Given the description of an element on the screen output the (x, y) to click on. 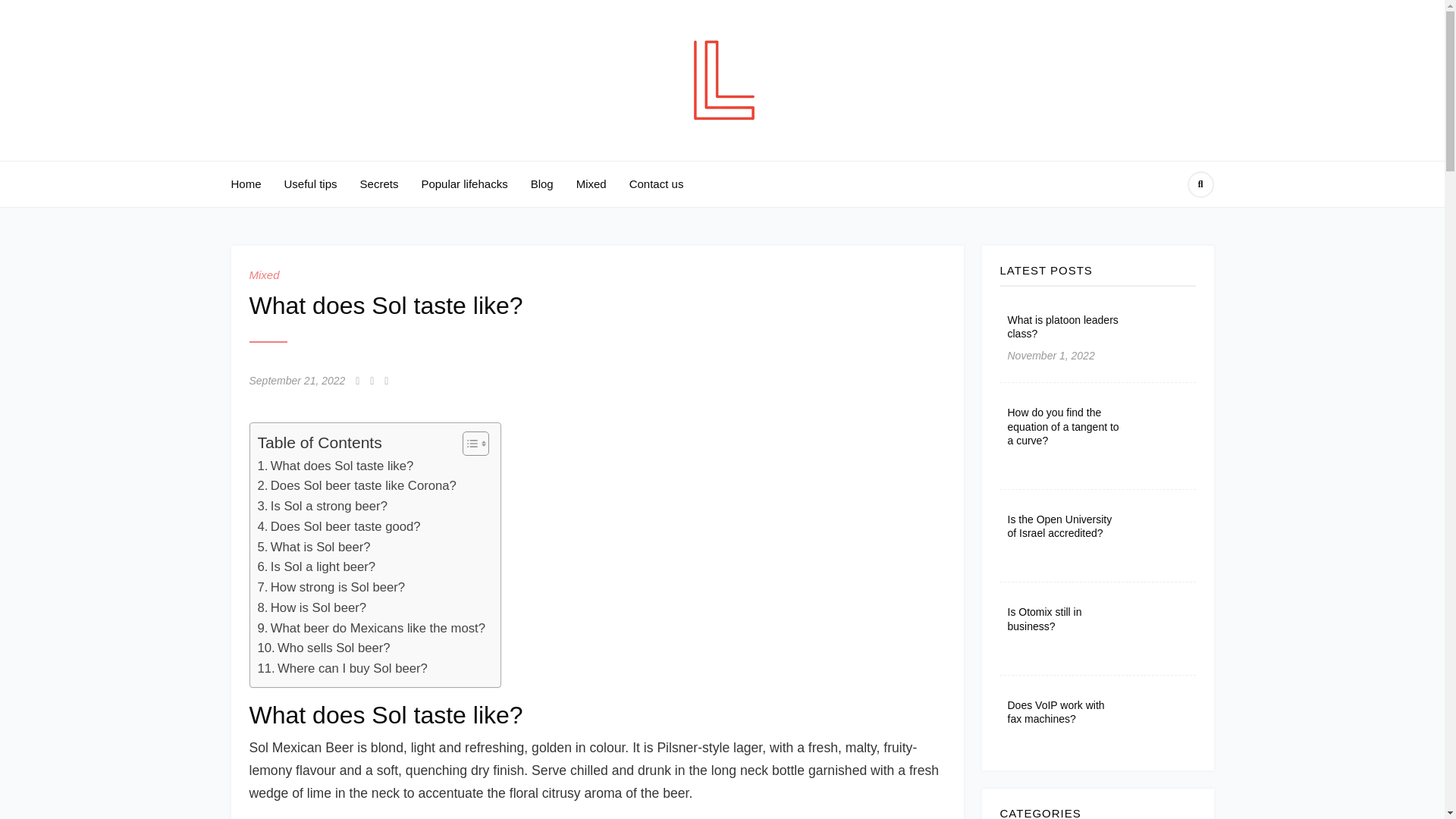
Mixed (263, 274)
What is Sol beer? (314, 547)
Does Sol beer taste good? (338, 526)
Who sells Sol beer? (323, 648)
Does Sol beer taste good? (338, 526)
Does Sol beer taste like Corona? (357, 485)
Who sells Sol beer? (323, 648)
Where can I buy Sol beer? (342, 669)
How is Sol beer? (311, 608)
Contact us (656, 184)
Is Sol a strong beer? (322, 506)
What beer do Mexicans like the most? (370, 629)
September 21, 2022 (296, 380)
Popular lifehacks (463, 184)
Is Sol a strong beer? (322, 506)
